Given the description of an element on the screen output the (x, y) to click on. 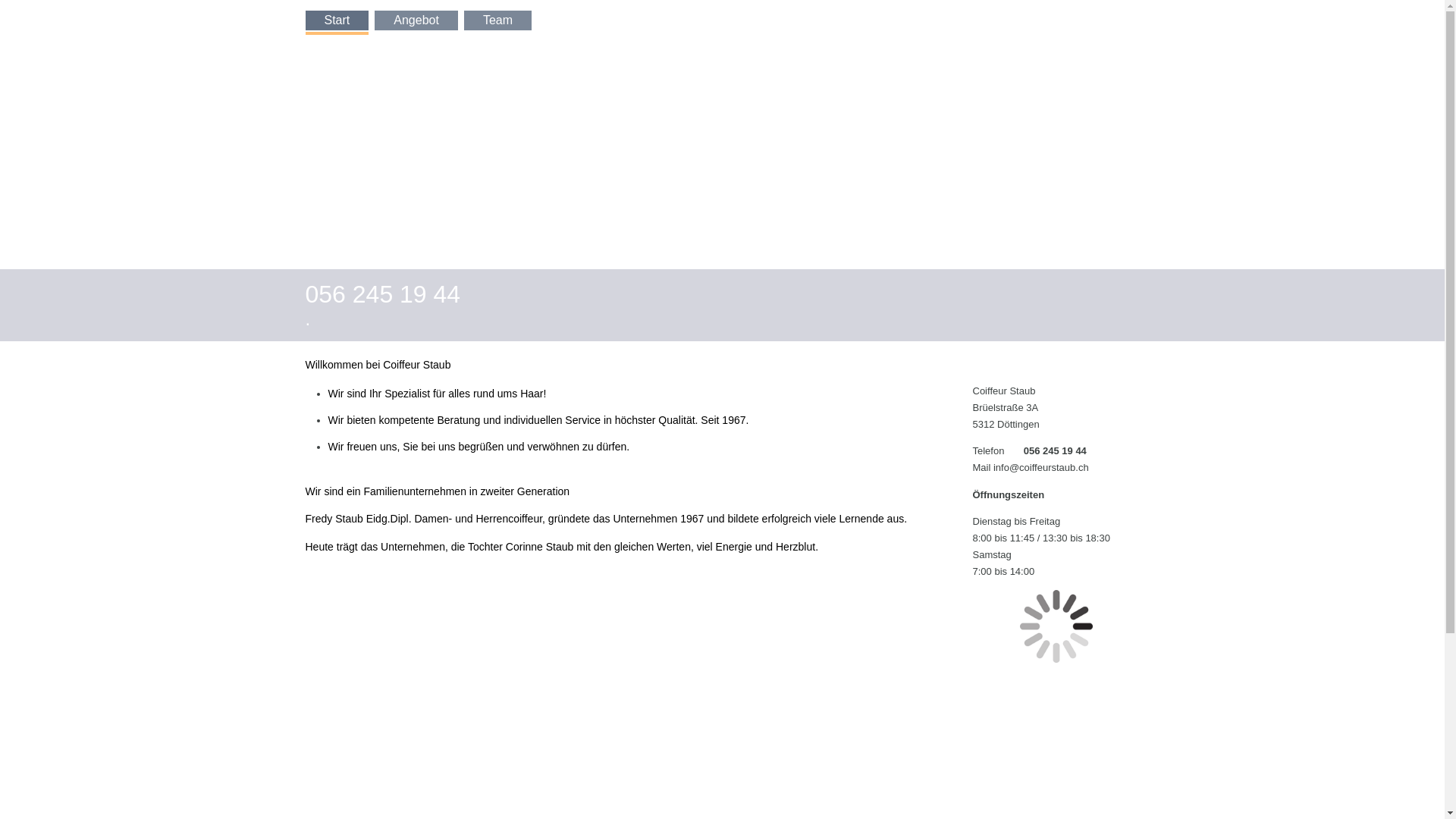
Angebot Element type: text (416, 20)
Start Element type: text (336, 20)
Team Element type: text (497, 20)
